Given the description of an element on the screen output the (x, y) to click on. 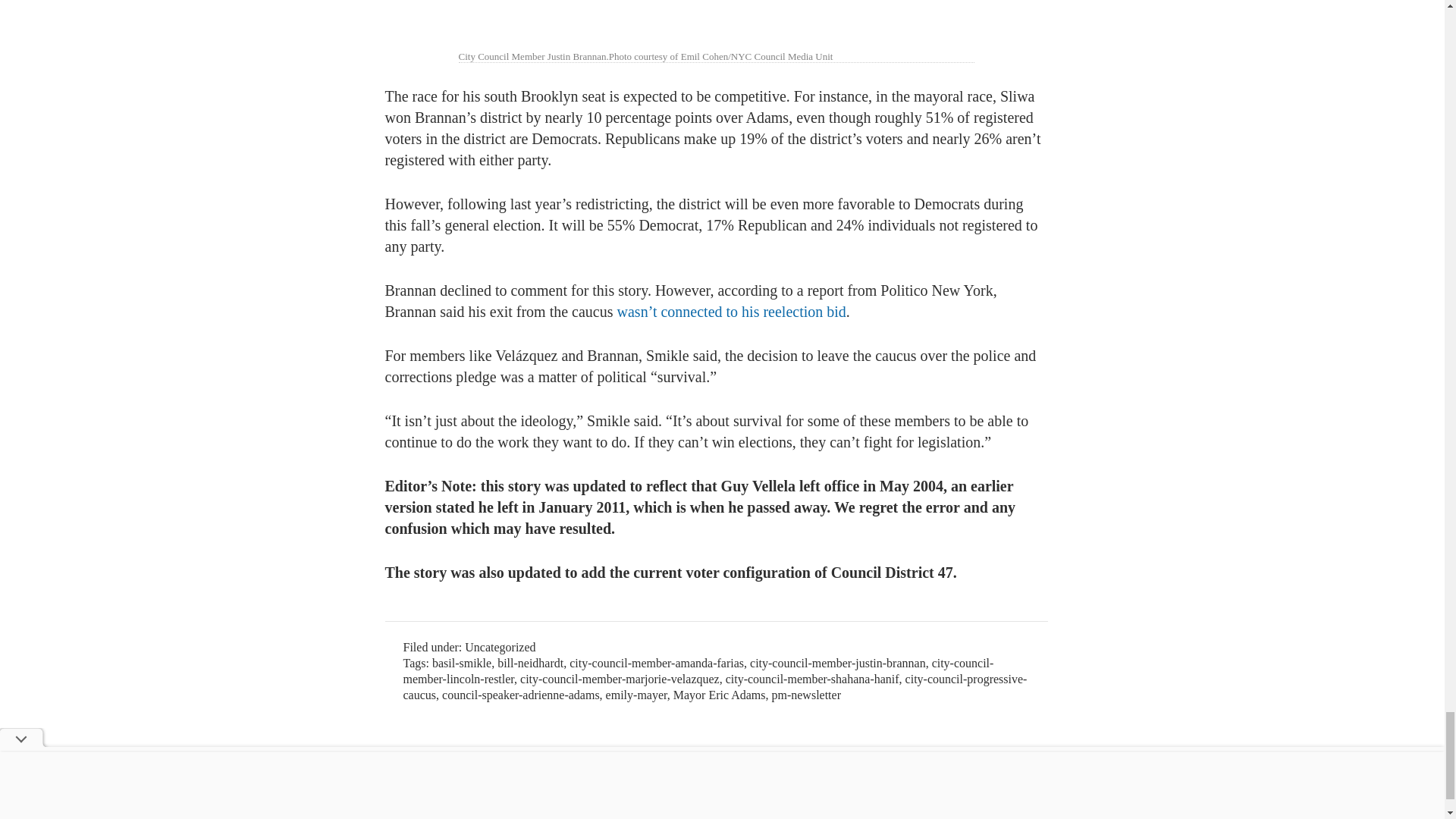
3rd party ad content (661, 755)
